Given the description of an element on the screen output the (x, y) to click on. 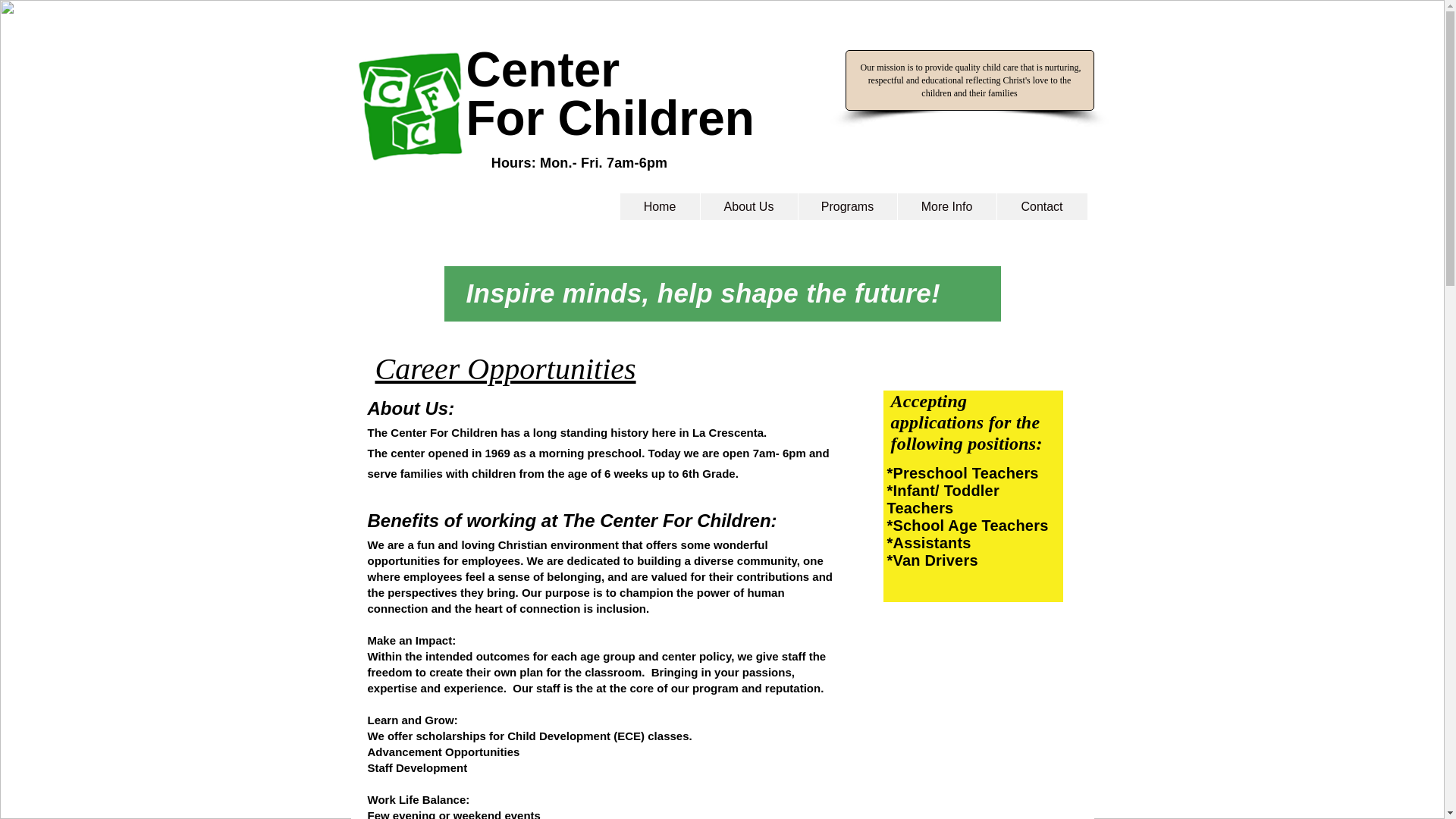
apple-touch-icon-144x144-precomposed.png (410, 105)
About Us (747, 206)
Contact (1041, 206)
More Info (945, 206)
Home (660, 206)
